Given the description of an element on the screen output the (x, y) to click on. 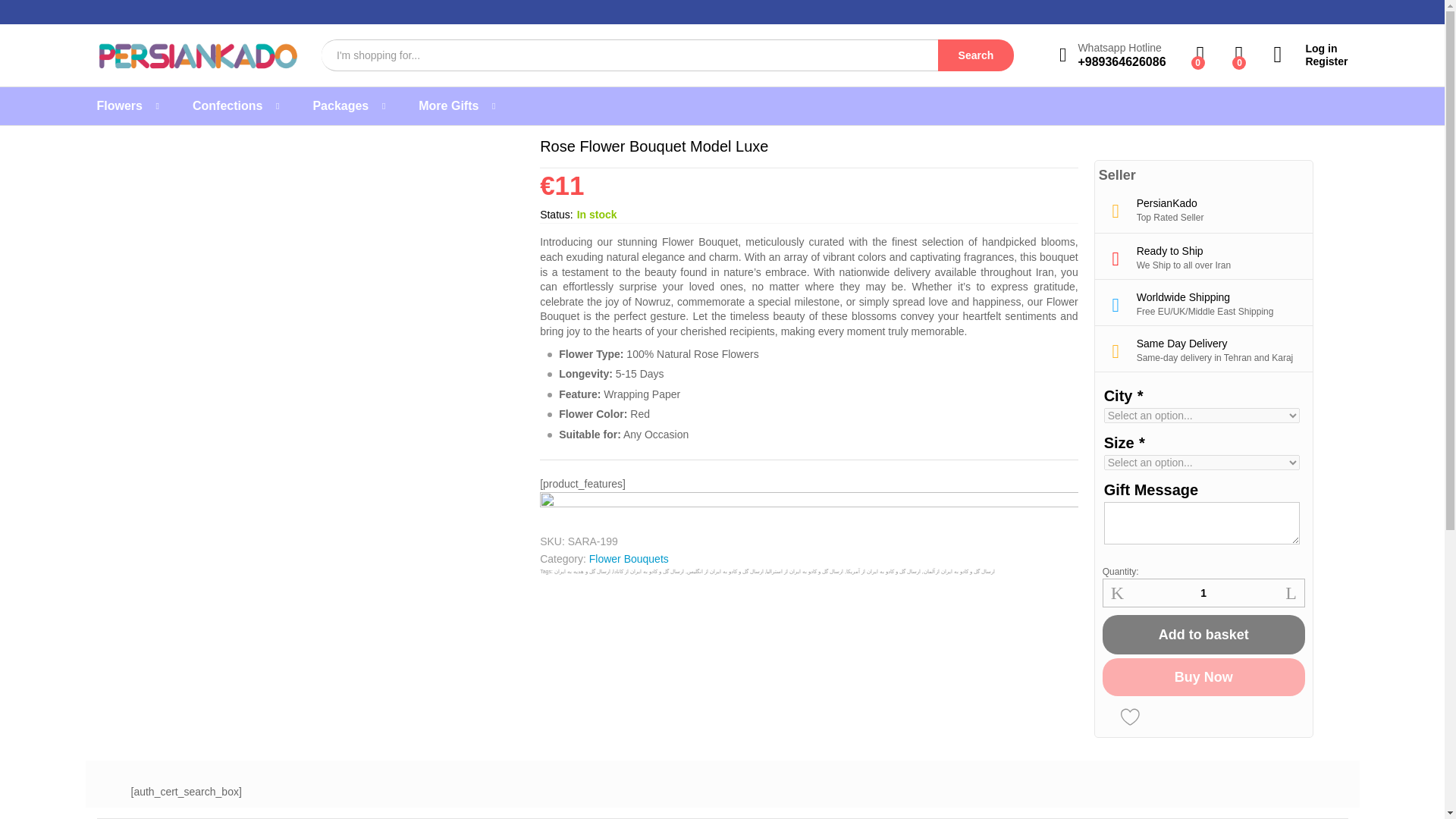
Packages (340, 105)
Register (1310, 61)
Wishlist (1130, 716)
Log in (1310, 48)
1 (1203, 592)
Search (975, 55)
Confections (227, 105)
Flowers (119, 105)
More Gifts (449, 105)
Qty (1203, 592)
